Given the description of an element on the screen output the (x, y) to click on. 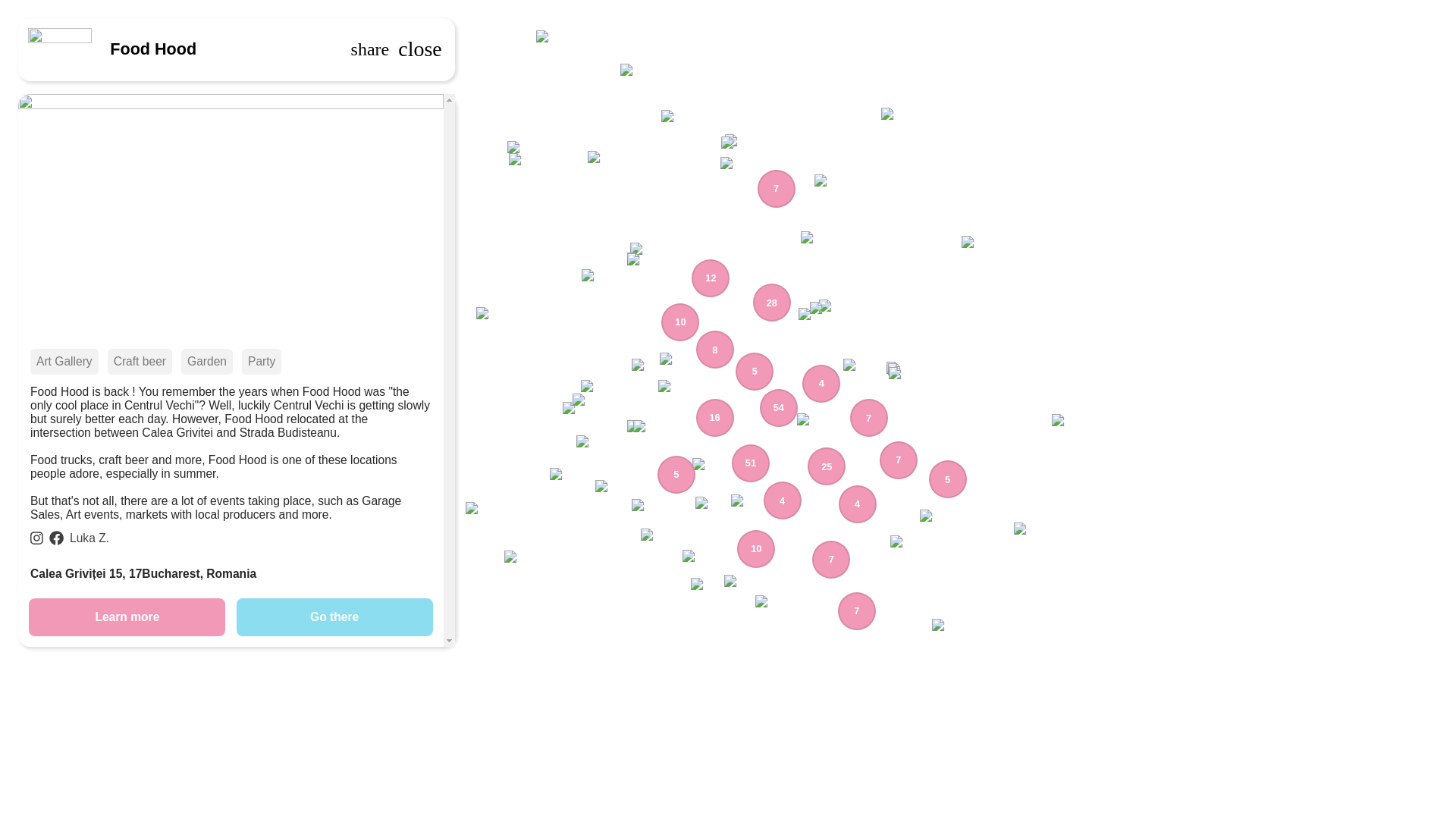
Bucharest's Garden Map: our favorite places to go out to (206, 361)
Go there (310, 617)
Find out how to go to Food Hood's using google map (333, 617)
Party (95, 361)
Learn more (92, 617)
Go to Food Hood's official website (127, 617)
Bucharest's Craft beer Map: our favorite places to go out to (139, 361)
Garden (16, 361)
Bucharest's Party Map: our favorite places to go out to (261, 361)
